Given the description of an element on the screen output the (x, y) to click on. 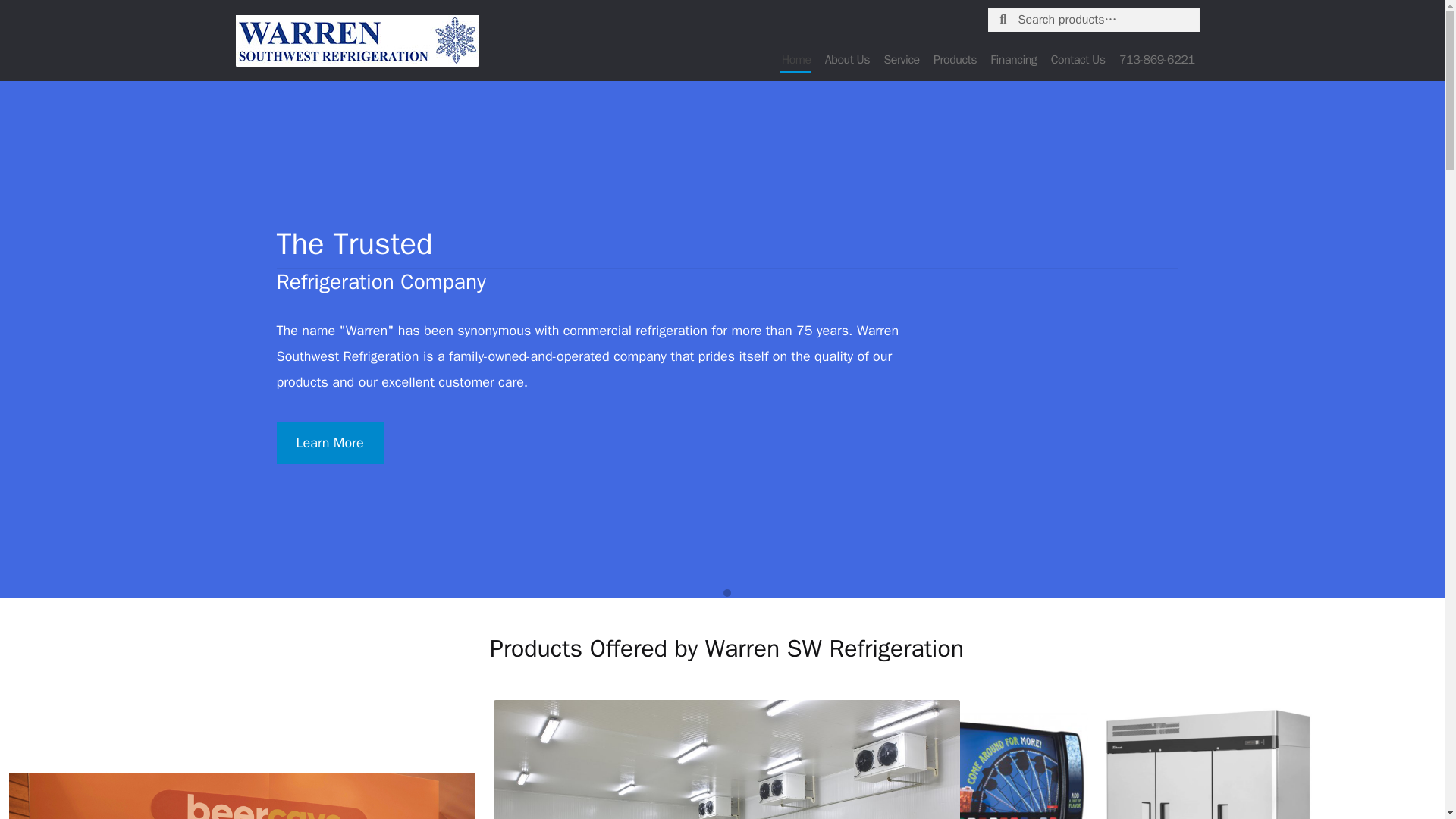
Contact Us (1077, 59)
713-869-6221 (1156, 59)
About Us (847, 59)
Home (796, 59)
Products (954, 59)
Service (900, 59)
Financing (1013, 59)
Learn More (329, 443)
